Given the description of an element on the screen output the (x, y) to click on. 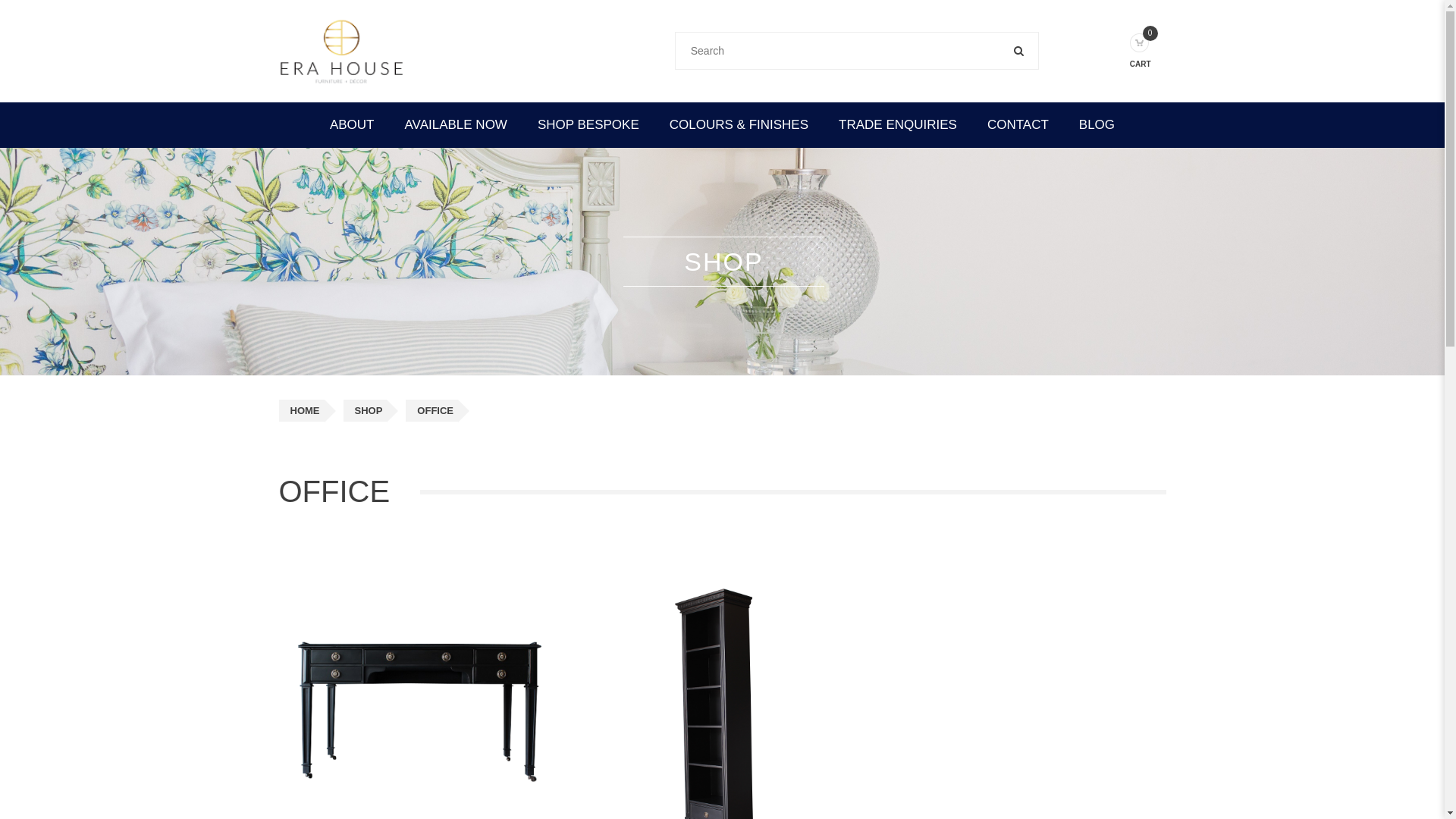
AVAILABLE NOW Element type: text (455, 124)
CONTACT Element type: text (1017, 124)
SHOP Element type: text (364, 410)
HOME Element type: text (301, 410)
COLOURS & FINISHES Element type: text (738, 124)
ABOUT Element type: text (351, 124)
BLOG Element type: text (1096, 124)
SHOP BESPOKE Element type: text (588, 124)
TRADE ENQUIRIES Element type: text (897, 124)
